Given the description of an element on the screen output the (x, y) to click on. 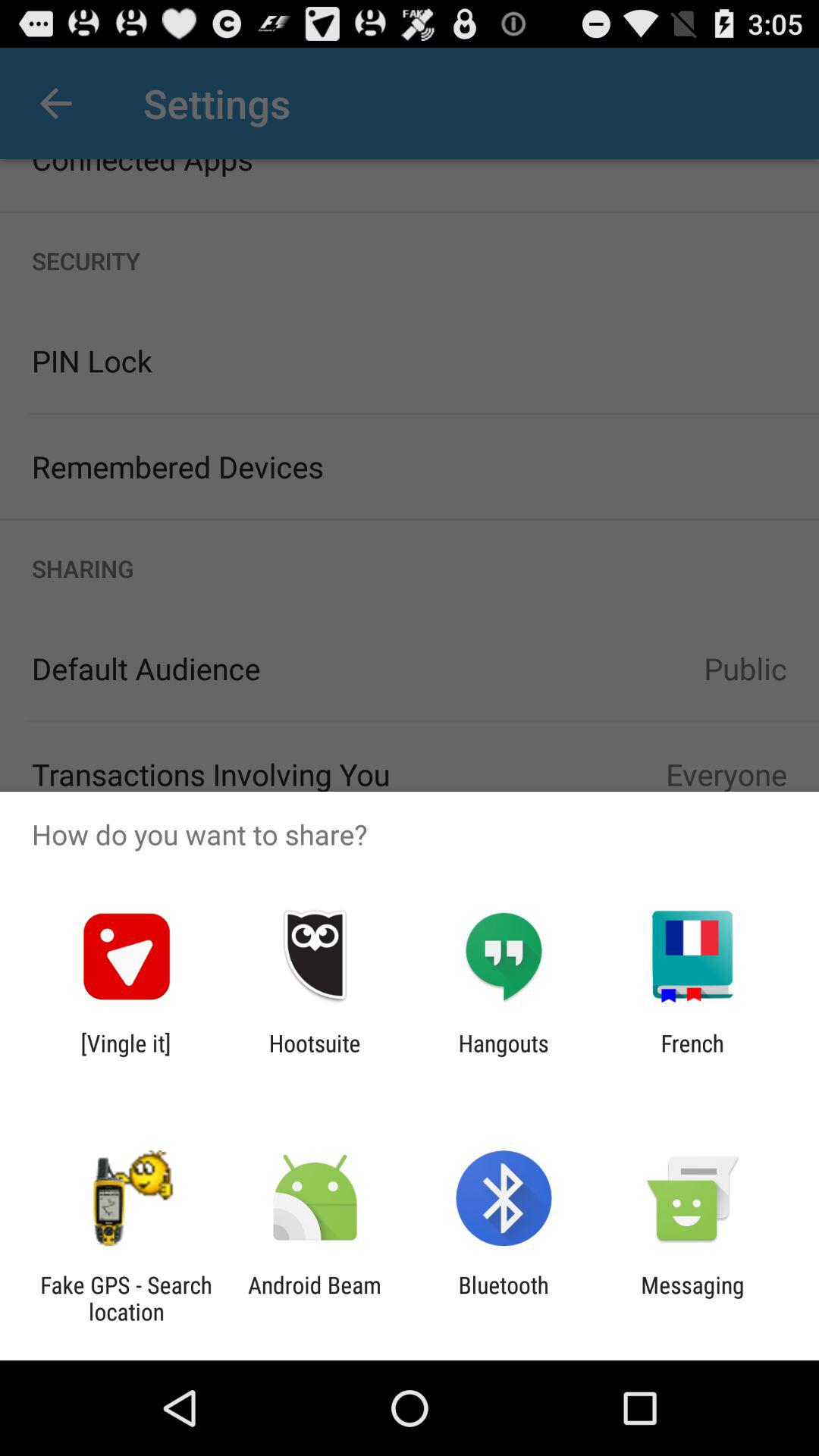
choose item next to the messaging icon (503, 1298)
